Given the description of an element on the screen output the (x, y) to click on. 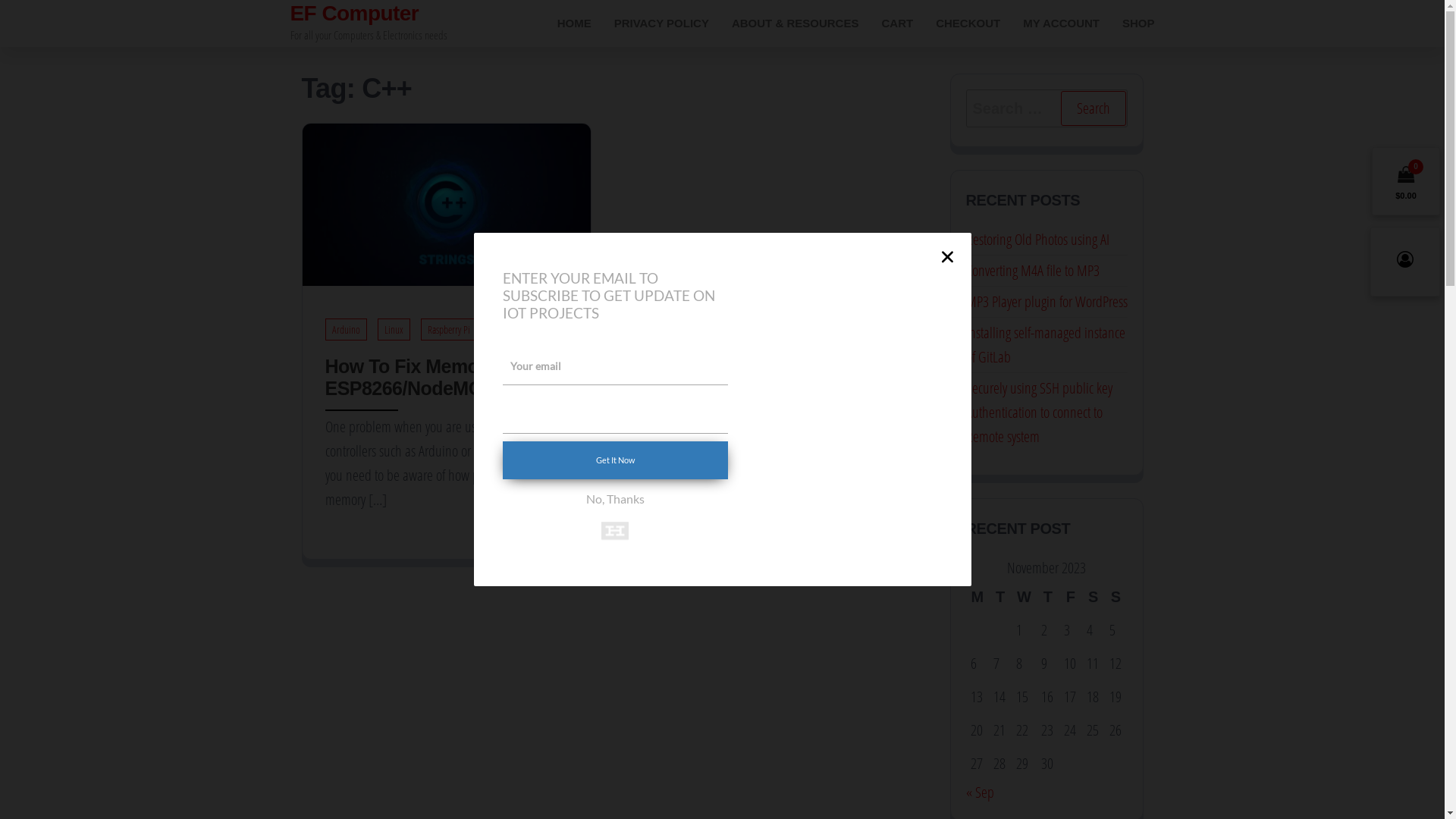
Linux Element type: text (393, 329)
0
$0.00 Element type: text (1405, 181)
EF Computer Element type: text (353, 13)
My Account Element type: hover (1405, 261)
Raspberry Pi Element type: text (448, 329)
ABOUT & RESOURCES Element type: text (795, 23)
Search Element type: text (1092, 108)
HOME Element type: text (574, 23)
MY ACCOUNT Element type: text (1060, 23)
CART Element type: text (896, 23)
Installing self-managed instance of GitLab Element type: text (1045, 344)
MP3 Player plugin for WordPress Element type: text (1046, 301)
CHECKOUT Element type: text (967, 23)
How To Fix Memory leak in ESP8266/NodeMCU Element type: text (440, 376)
SHOP Element type: text (1138, 23)
Arduino Element type: text (345, 329)
PRIVACY POLICY Element type: text (661, 23)
Restoring Old Photos using AI Element type: text (1037, 239)
How To Fix Memory leak in ESP8266/NodeMCU Element type: hover (445, 202)
Converting M4A file to MP3 Element type: text (1032, 270)
